Given the description of an element on the screen output the (x, y) to click on. 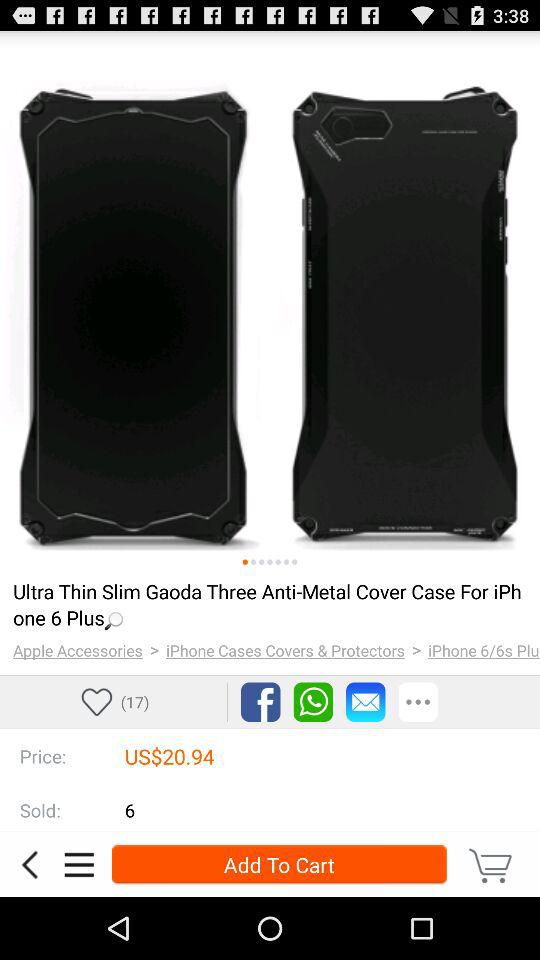
see a different photo (286, 561)
